Given the description of an element on the screen output the (x, y) to click on. 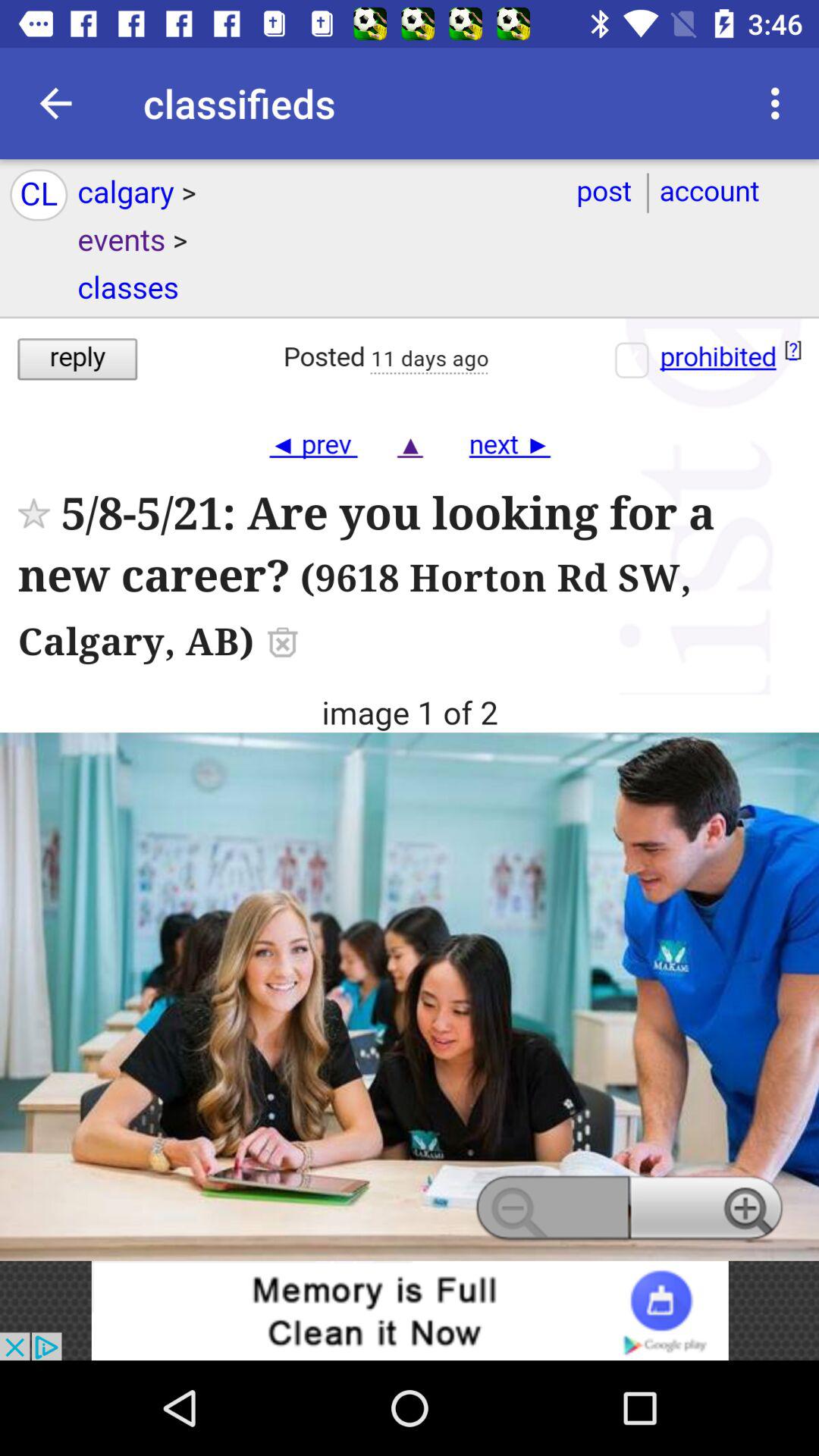
read the full advertisement (409, 709)
